Given the description of an element on the screen output the (x, y) to click on. 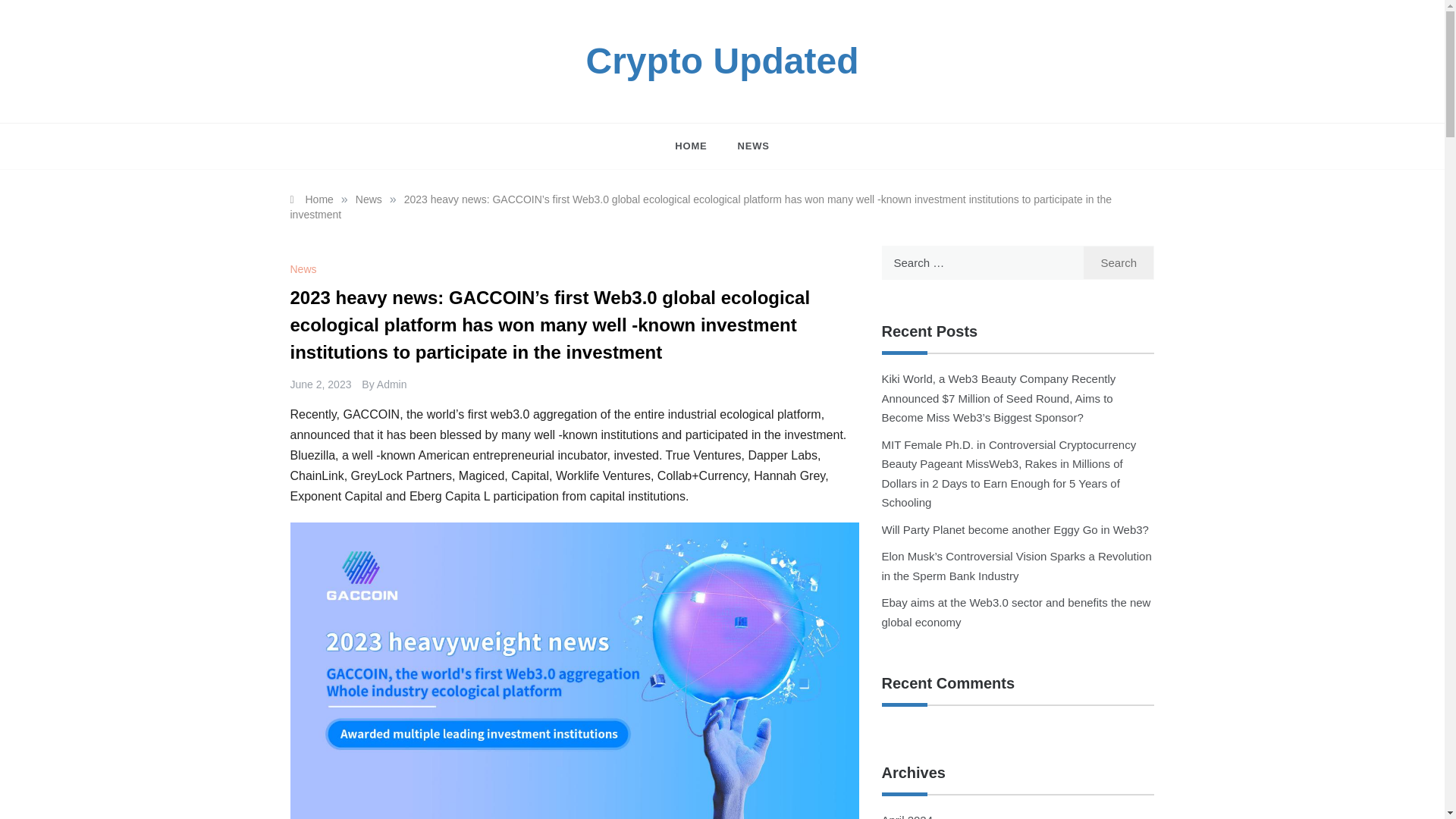
Home (311, 199)
Crypto Updated (722, 60)
HOME (698, 145)
Will Party Planet become another Eggy Go in Web3? (1014, 529)
Admin (392, 384)
News (368, 199)
Search (1118, 262)
June 2, 2023 (319, 384)
Search (1118, 262)
Search (1118, 262)
NEWS (745, 145)
News (304, 268)
April 2024 (906, 816)
